Given the description of an element on the screen output the (x, y) to click on. 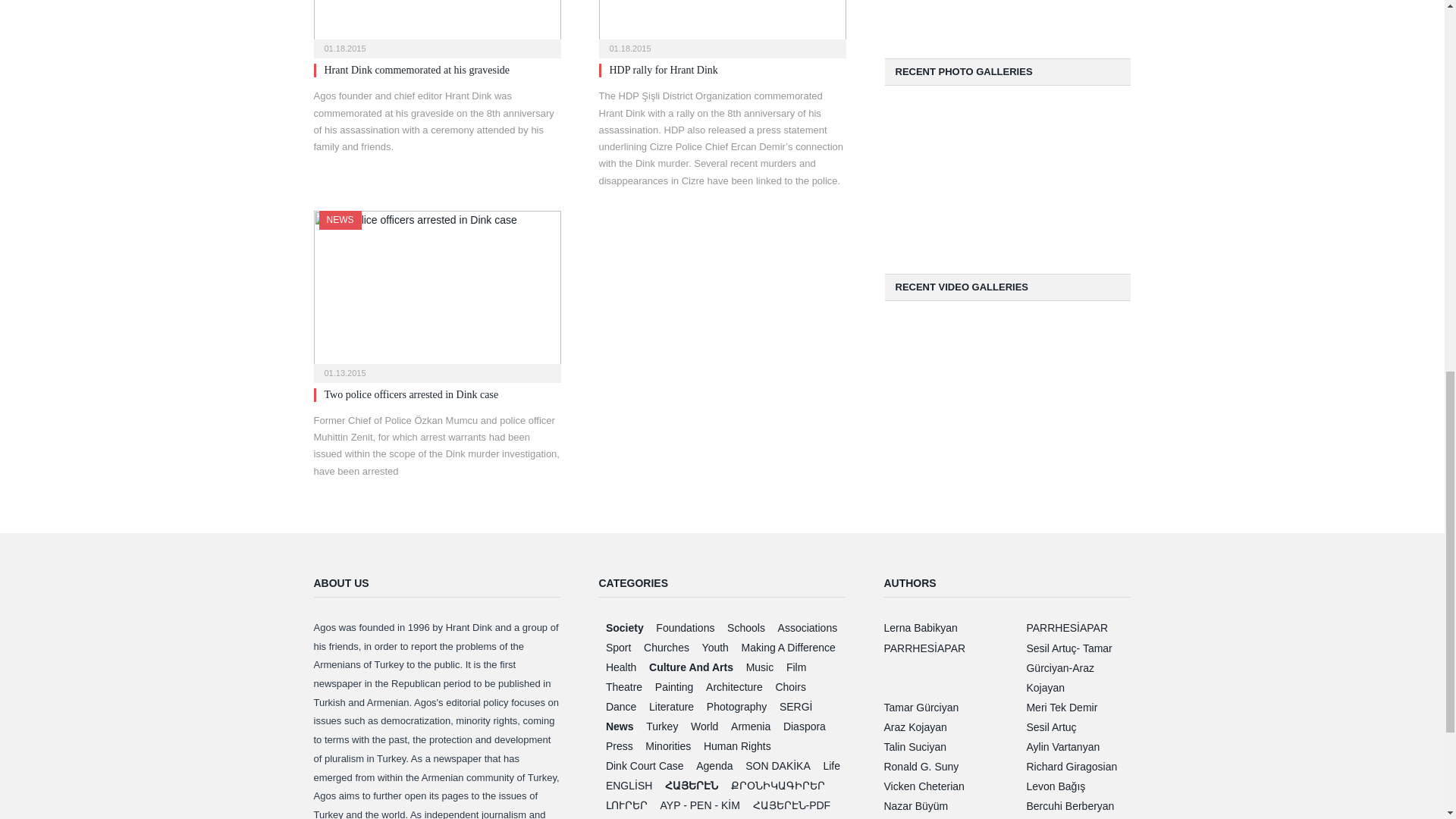
HDP rally for Hrant Dink (663, 70)
HDP rally for Hrant Dink (721, 24)
Hrant Dink commemorated at his graveside (417, 70)
Hrant Dink commemorated at his graveside (417, 70)
NEWS (339, 219)
Hrant Dink commemorated at his graveside (437, 24)
Two police officers arrested in Dink case (411, 394)
